Given the description of an element on the screen output the (x, y) to click on. 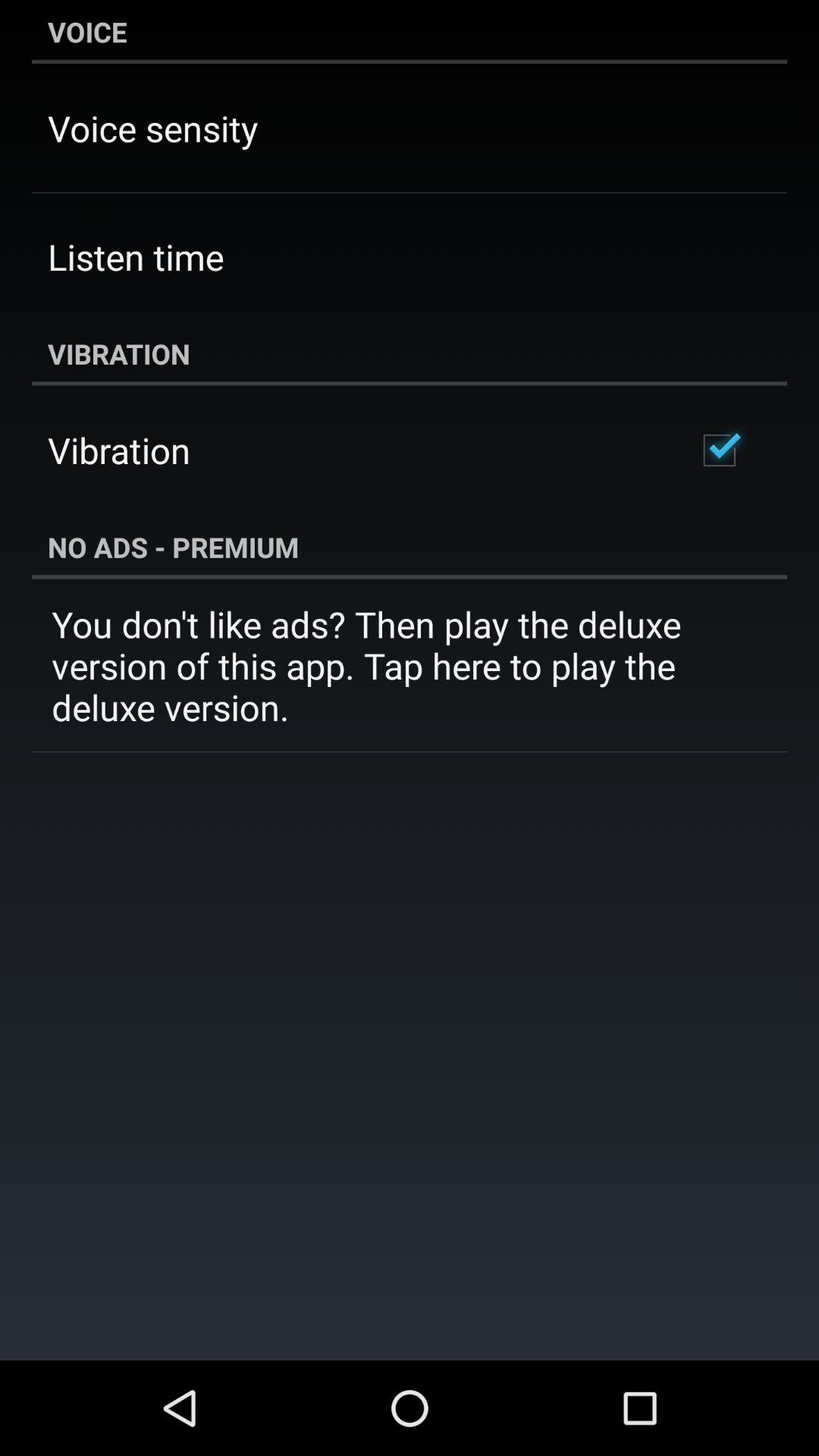
tap voice sensity app (152, 128)
